Given the description of an element on the screen output the (x, y) to click on. 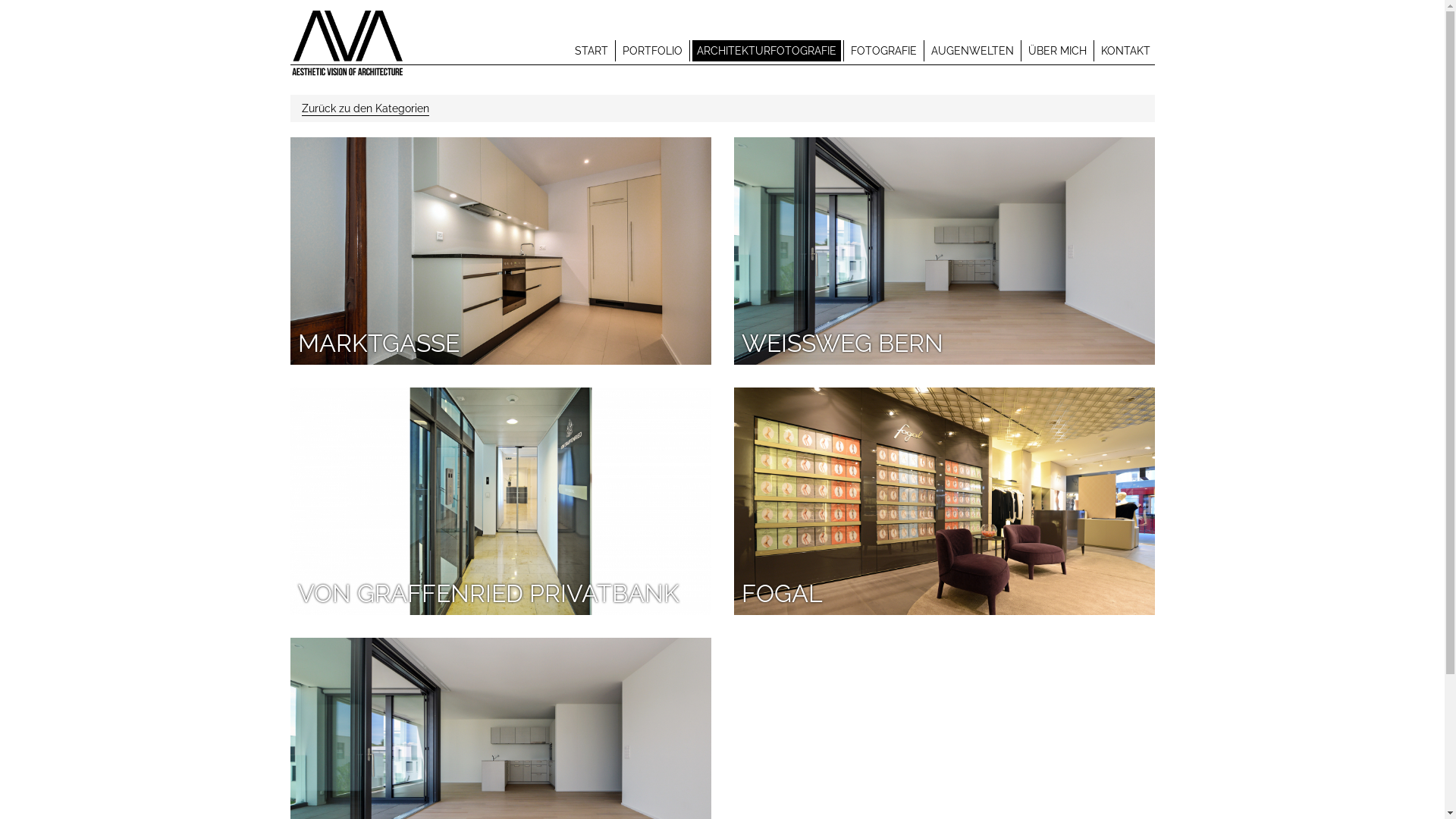
MARKTGASSE Element type: text (499, 250)
KONTAKT Element type: text (1125, 50)
VON GRAFFENRIED PRIVATBANK Element type: text (499, 501)
WEISSWEG BERN Element type: text (944, 250)
PORTFOLIO Element type: text (651, 50)
FOGAL Element type: text (944, 501)
AUGENWELTEN Element type: text (972, 50)
START Element type: text (591, 50)
ARCHITEKTURFOTOGRAFIE Element type: text (765, 50)
FOTOGRAFIE Element type: text (883, 50)
